Given the description of an element on the screen output the (x, y) to click on. 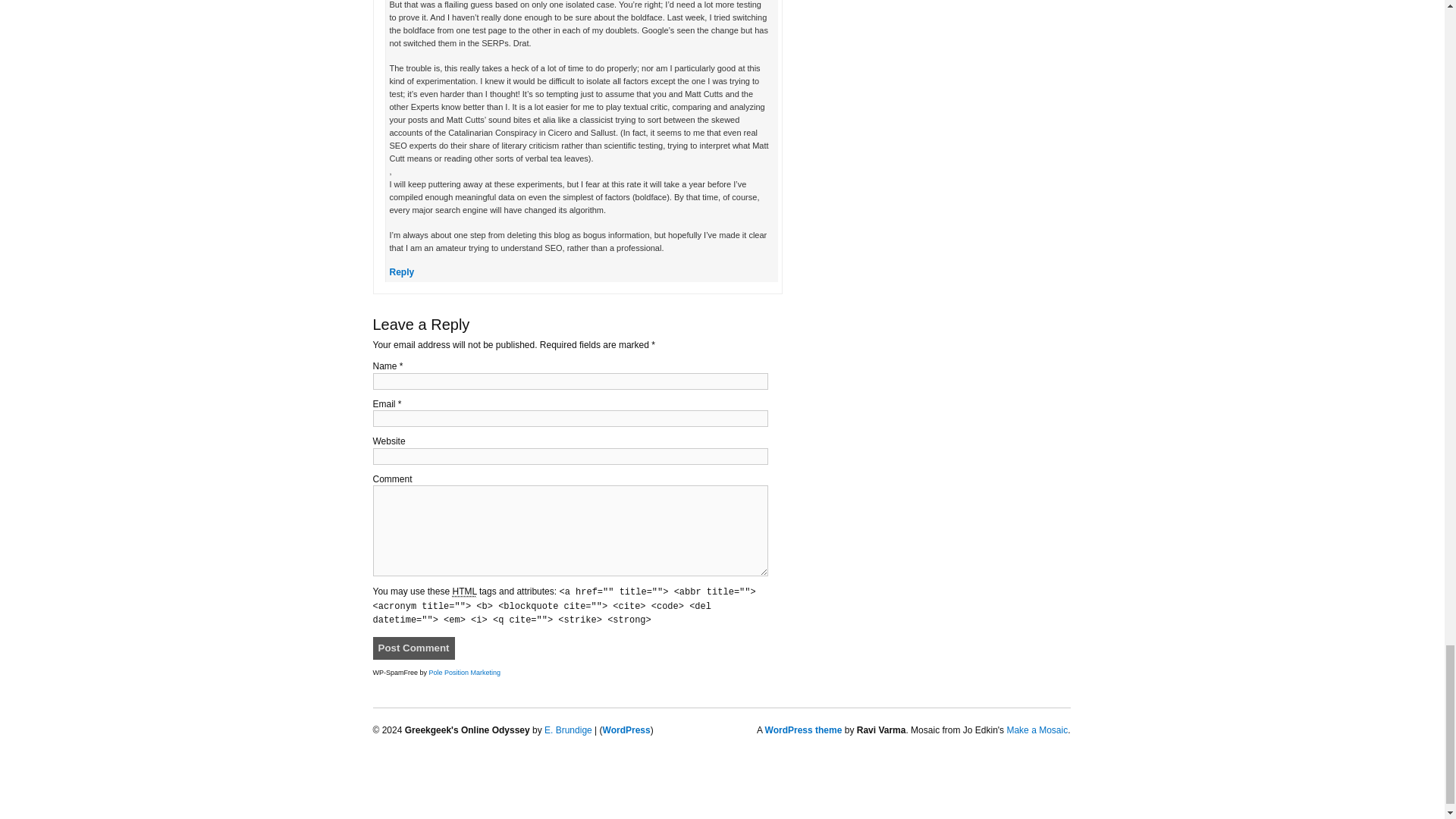
Post Comment (413, 648)
Reply (402, 271)
Pole Position Marketing (464, 672)
Post Comment (413, 648)
HyperText Markup Language (463, 591)
WP-SpamFree WordPress Anti-Spam Plugin (464, 672)
